Given the description of an element on the screen output the (x, y) to click on. 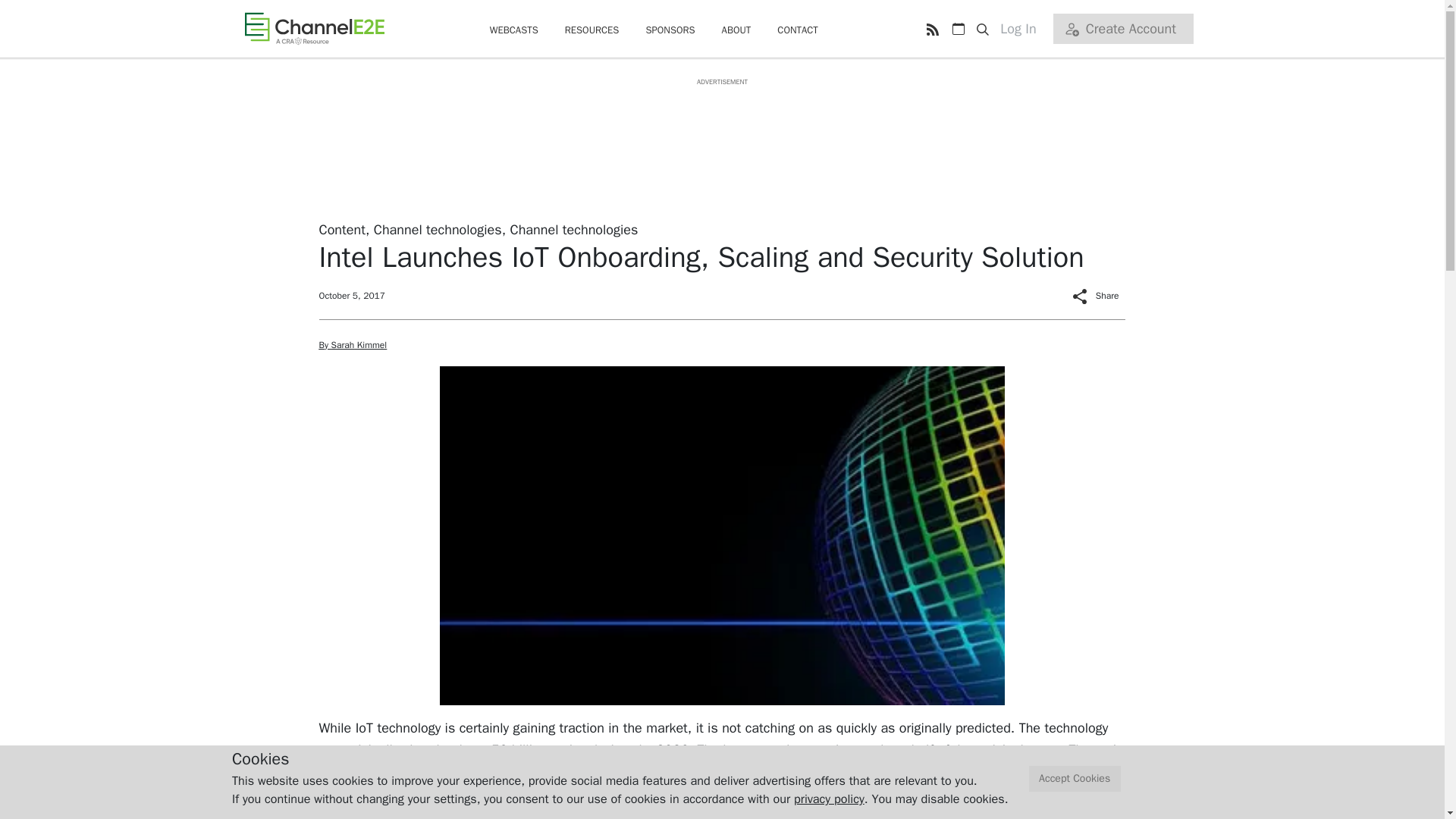
By Sarah Kimmel (352, 345)
Channel technologies (438, 229)
Log In (1023, 29)
ABOUT (736, 30)
View Cybersecurity Conference Calendar (957, 28)
3rd party ad content (721, 121)
Accept Cookies (1075, 778)
originally slated (392, 750)
privacy policy (828, 798)
ChannelE2E (314, 27)
